Given the description of an element on the screen output the (x, y) to click on. 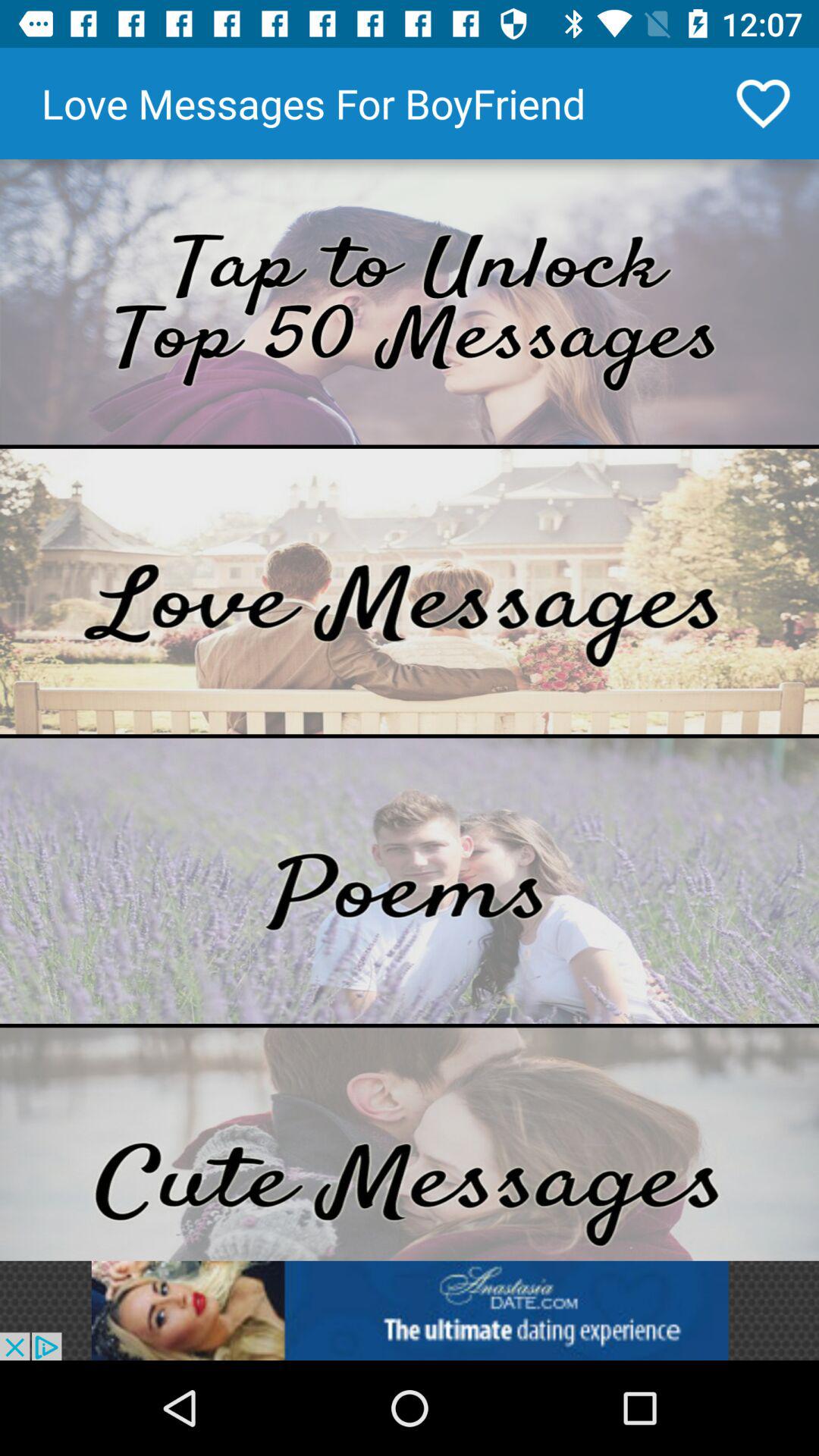
view poems (409, 880)
